Given the description of an element on the screen output the (x, y) to click on. 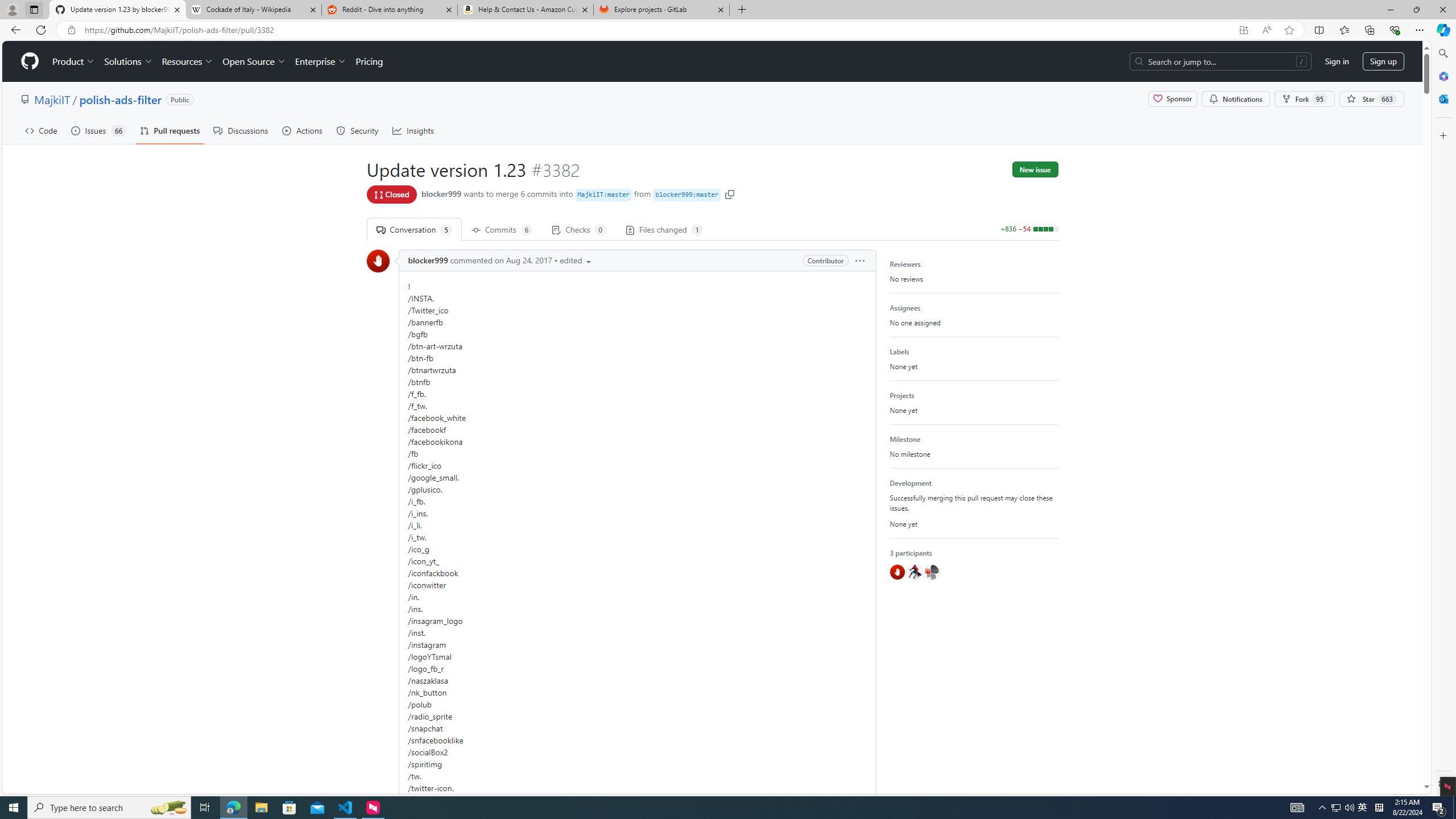
@blocker999 (896, 572)
You must be signed in to star a repository (1371, 98)
App available. Install GitHub (1243, 29)
Resources (187, 60)
Security (357, 130)
Sponsor MajkiIT/polish-ads-filter (1171, 98)
polish-ads-filter (119, 99)
New issue (1034, 169)
blocker999 (427, 260)
Discussions (240, 130)
